Given the description of an element on the screen output the (x, y) to click on. 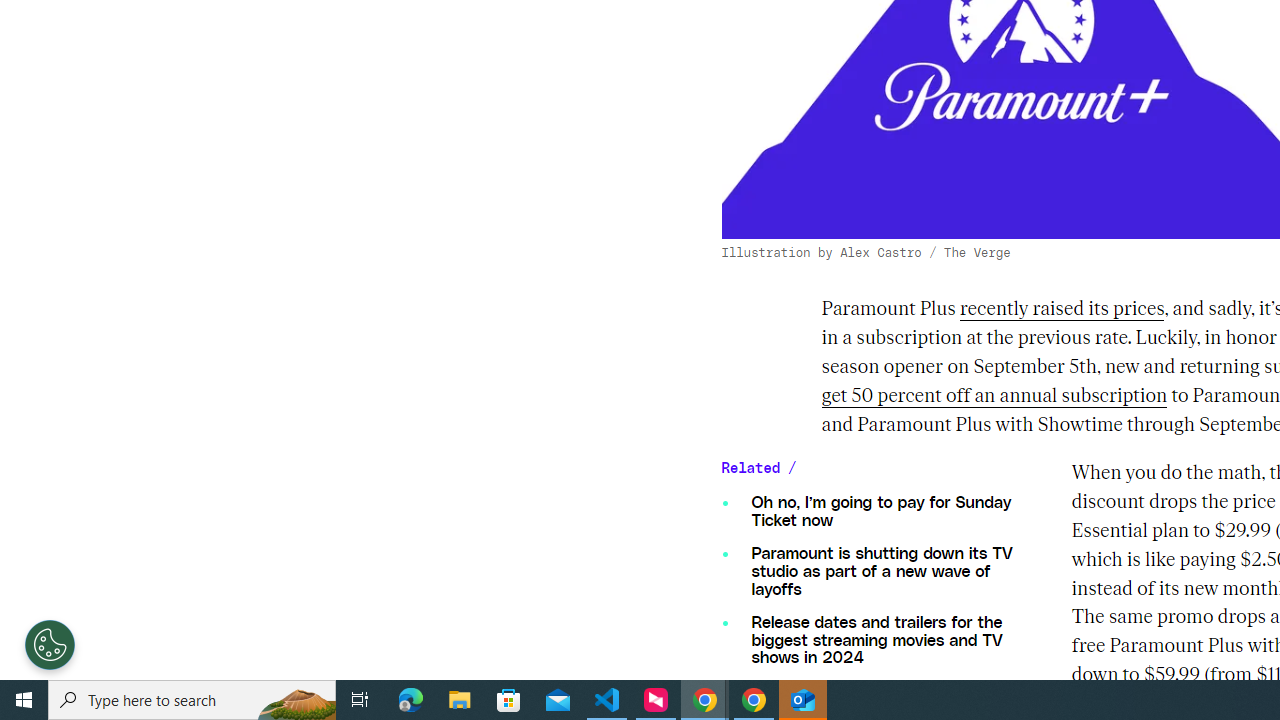
recently raised its prices (1061, 309)
get 50 percent off an annual subscription (993, 395)
Open Preferences (50, 644)
